Given the description of an element on the screen output the (x, y) to click on. 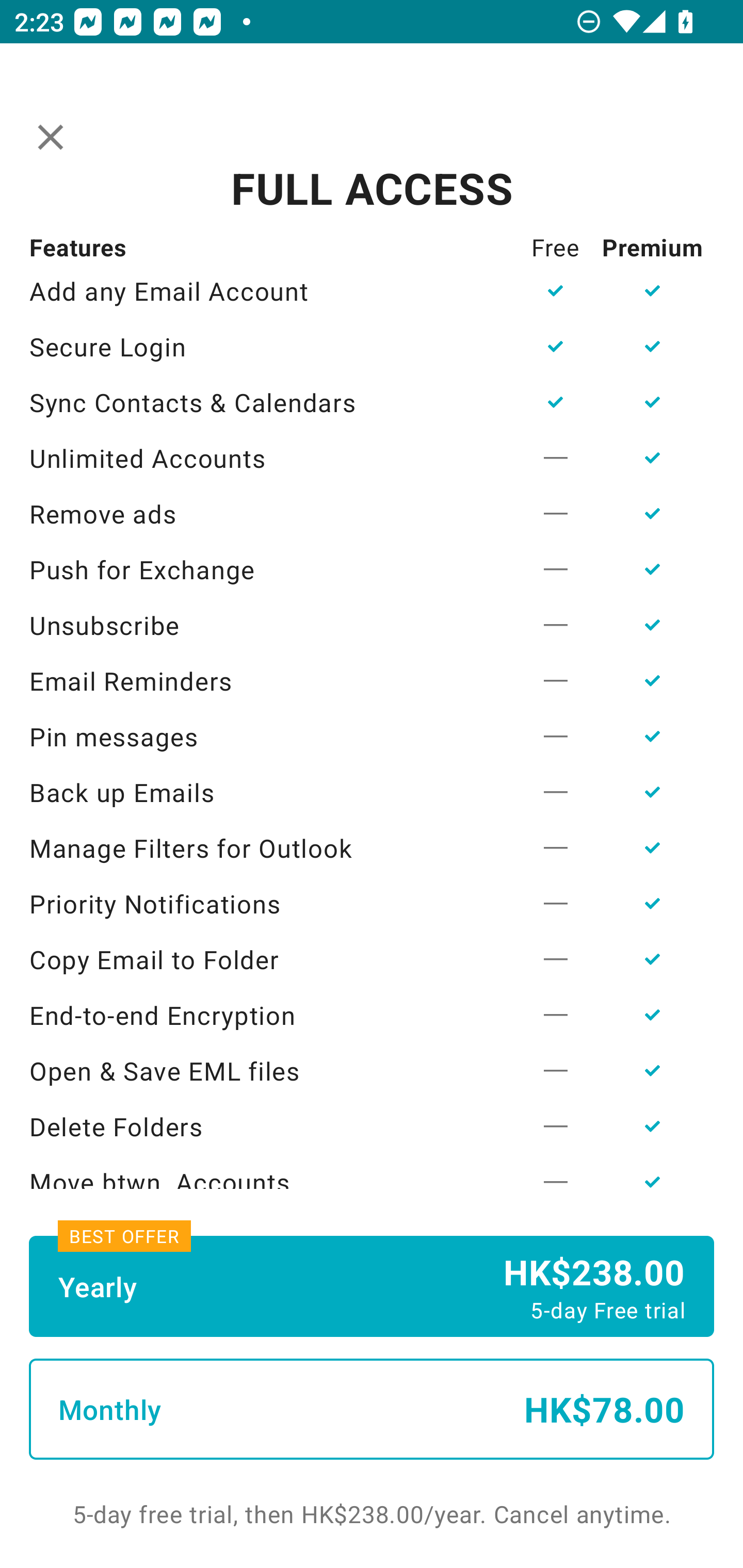
Yearly HK$238.00 5-day Free trial (371, 1286)
Monthly HK$78.00 (371, 1408)
